Given the description of an element on the screen output the (x, y) to click on. 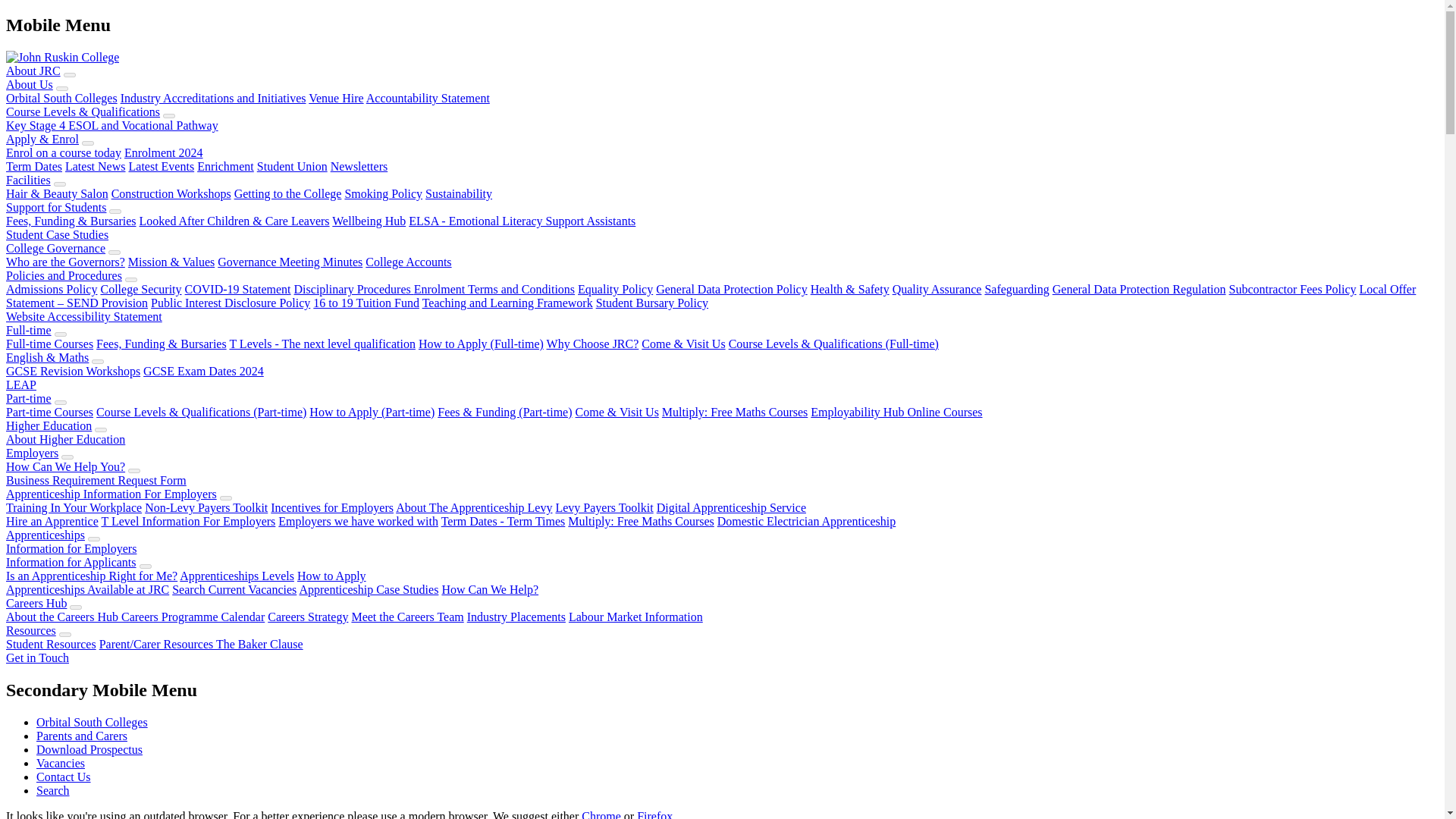
Enrichment (224, 165)
Enrol on a course today (62, 152)
Term Dates (33, 165)
About Us (28, 83)
College Governance (54, 247)
Smoking Policy (382, 193)
Construction Workshops (171, 193)
Facilities (27, 179)
Orbital South Colleges (61, 97)
Student Union (292, 165)
Sustainability (458, 193)
Wellbeing Hub (368, 220)
Enrolment 2024 (163, 152)
Industry Accreditations and Initiatives (212, 97)
About JRC (33, 70)
